Given the description of an element on the screen output the (x, y) to click on. 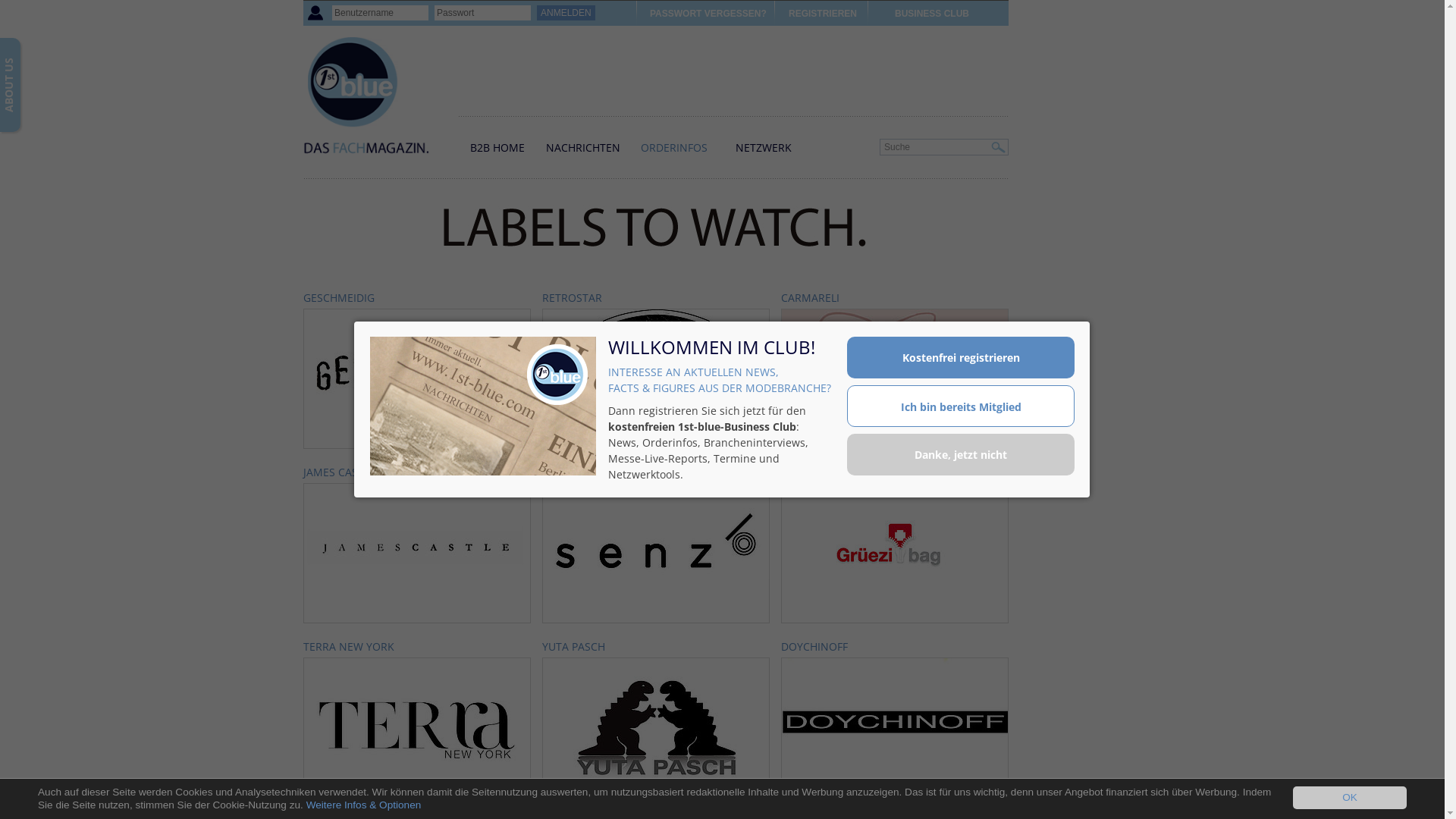
NETZWERK Element type: text (763, 147)
1ST-BLUE Element type: text (379, 102)
JAMES CASTLE Element type: text (416, 472)
NACHRICHTEN Element type: text (583, 147)
YUTA PASCH Element type: text (655, 646)
B2B HOME Element type: text (497, 147)
PASSWORT VERGESSEN? Element type: text (707, 13)
BUSINESS CLUB Element type: text (931, 13)
TERRA NEW YORK Element type: text (416, 646)
ORDERINFOS Element type: text (673, 147)
OK Element type: text (1349, 797)
CARMARELI Element type: text (894, 297)
Ich bin bereits Mitglied Element type: text (960, 405)
Danke, jetzt nicht Element type: text (960, 454)
GESCHMEIDIG Element type: text (416, 297)
Anmelden Element type: text (565, 12)
Kostenfrei registrieren Element type: text (960, 357)
RETROSTAR Element type: text (655, 297)
REGISTRIEREN Element type: text (822, 13)
DOYCHINOFF Element type: text (894, 646)
ABOUT US Element type: text (47, 47)
SENZ Element type: text (655, 472)
Weitere Infos & Optionen Element type: text (363, 804)
